Given the description of an element on the screen output the (x, y) to click on. 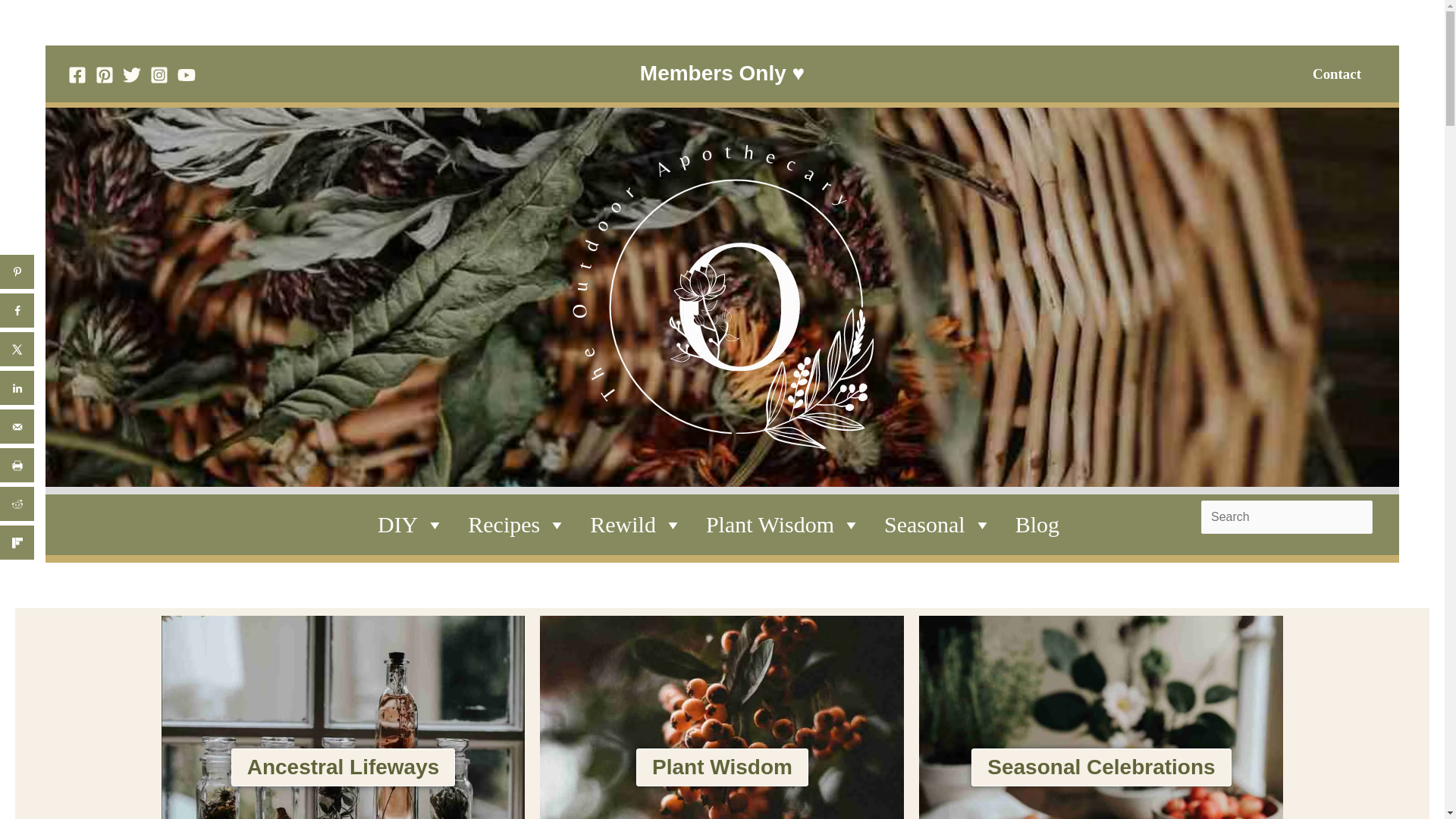
Plant Wisdom (783, 524)
Seasonal (938, 524)
Save to Pinterest (16, 271)
Contact (1336, 74)
Share on LinkedIn (16, 387)
DIY (410, 524)
Rewild (636, 524)
Share on X (16, 349)
Recipes (517, 524)
Send over email (16, 426)
Share on Facebook (16, 310)
Print this webpage (16, 464)
